Given the description of an element on the screen output the (x, y) to click on. 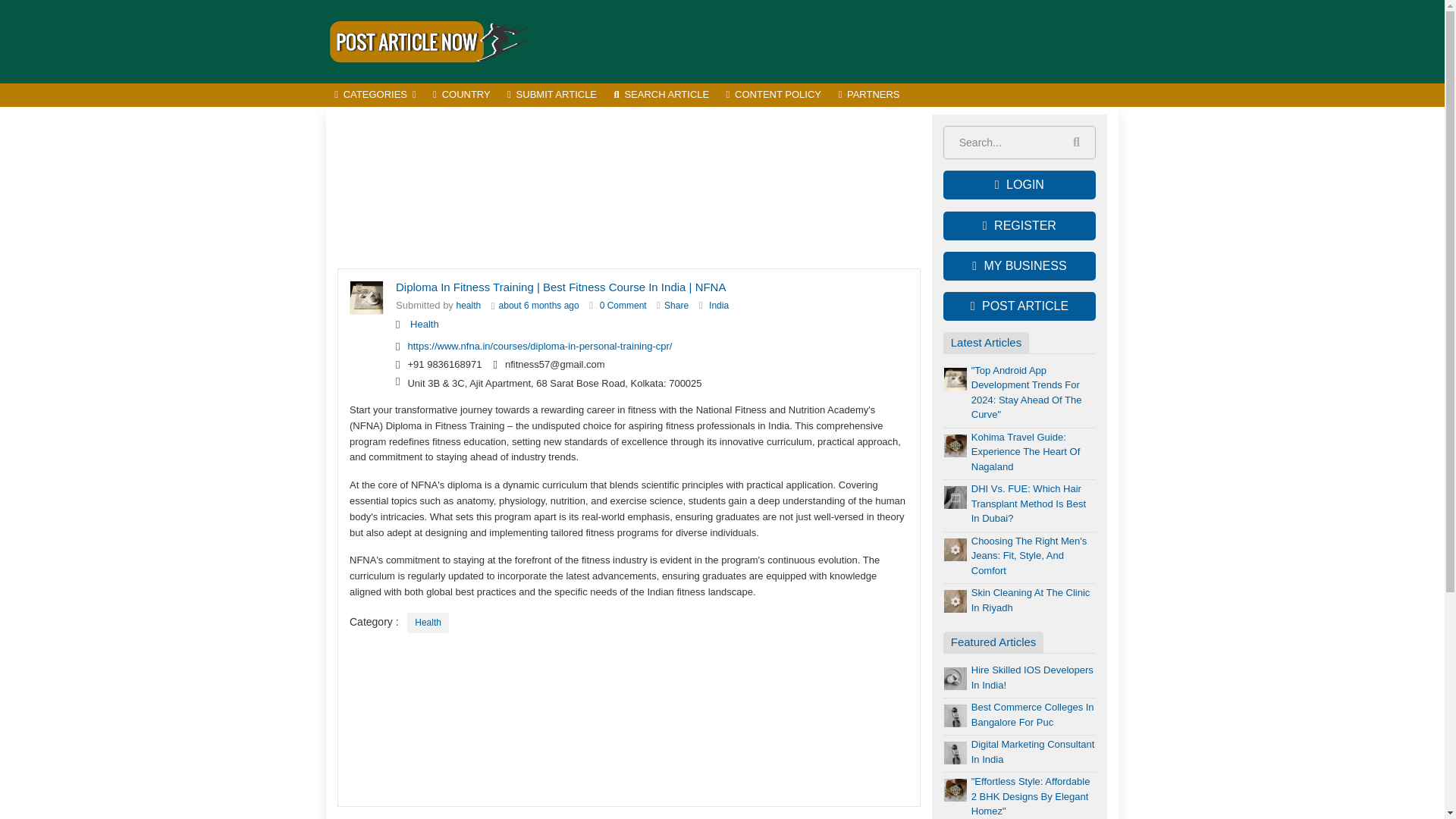
health (469, 305)
CATEGORIES (375, 95)
NutritionFitness12 (469, 305)
Advertisement (628, 187)
SUBMIT ARTICLE (552, 95)
COUNTRY (462, 95)
Share (675, 305)
MY BUSINESS (1019, 265)
India (719, 305)
LOGIN (1019, 184)
Advertisement (842, 41)
0 Comment (622, 305)
Health (424, 324)
about 6 months ago (539, 305)
SEARCH ARTICLE (661, 95)
